Given the description of an element on the screen output the (x, y) to click on. 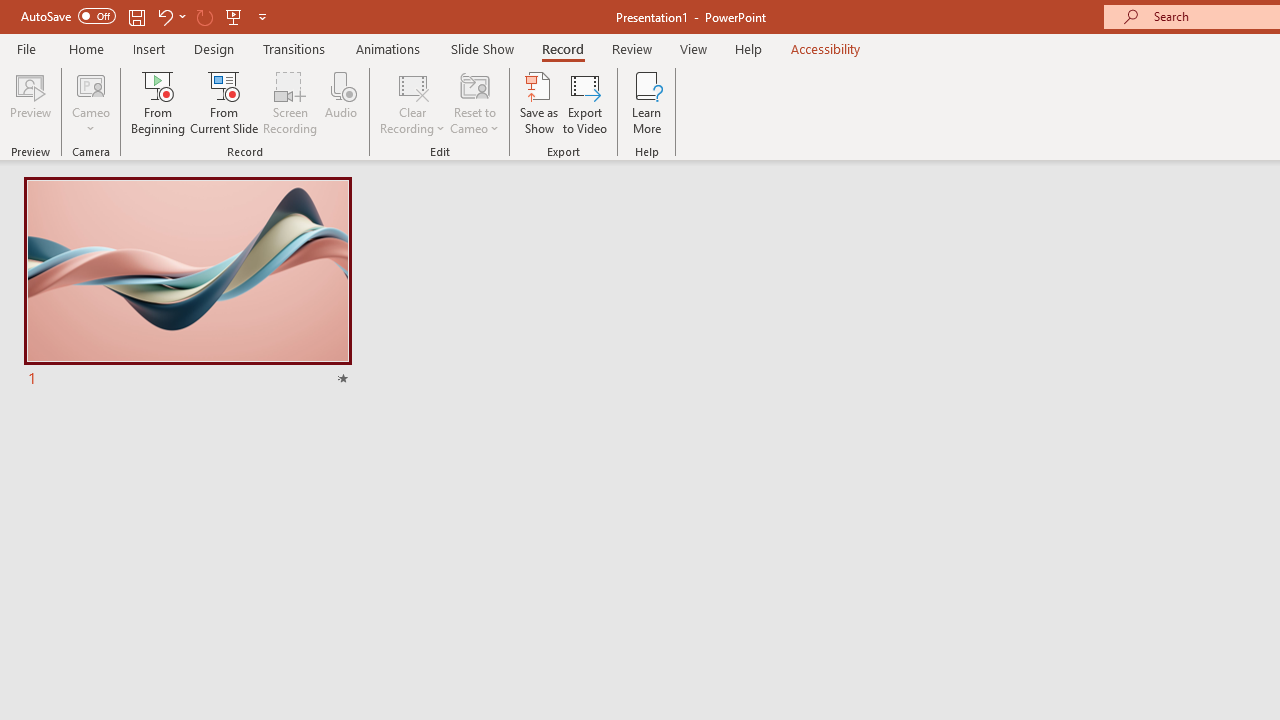
Save as Show (539, 102)
Preview (30, 102)
Cameo (91, 102)
